Given the description of an element on the screen output the (x, y) to click on. 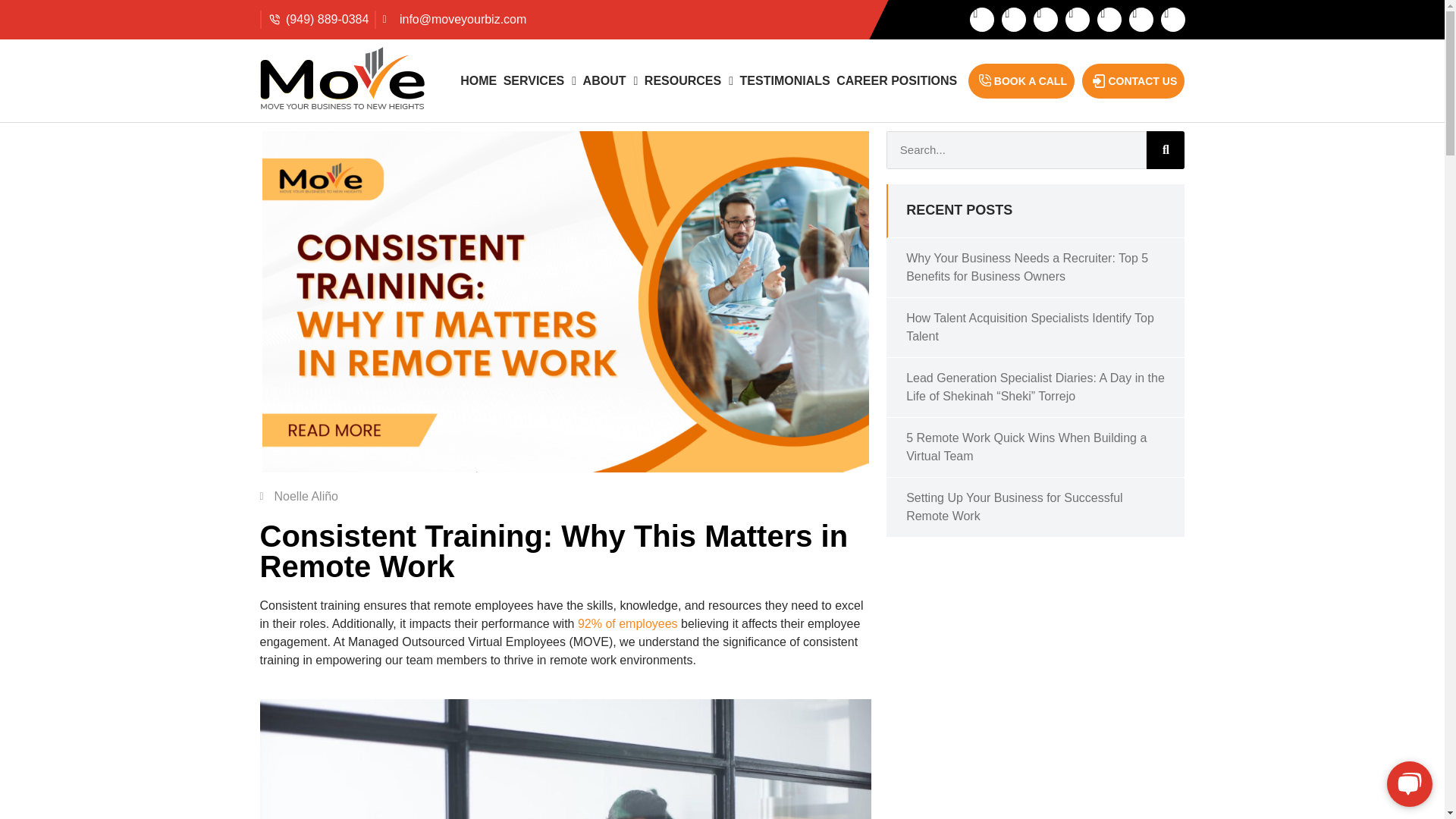
HOME (478, 80)
SERVICES (539, 80)
